Given the description of an element on the screen output the (x, y) to click on. 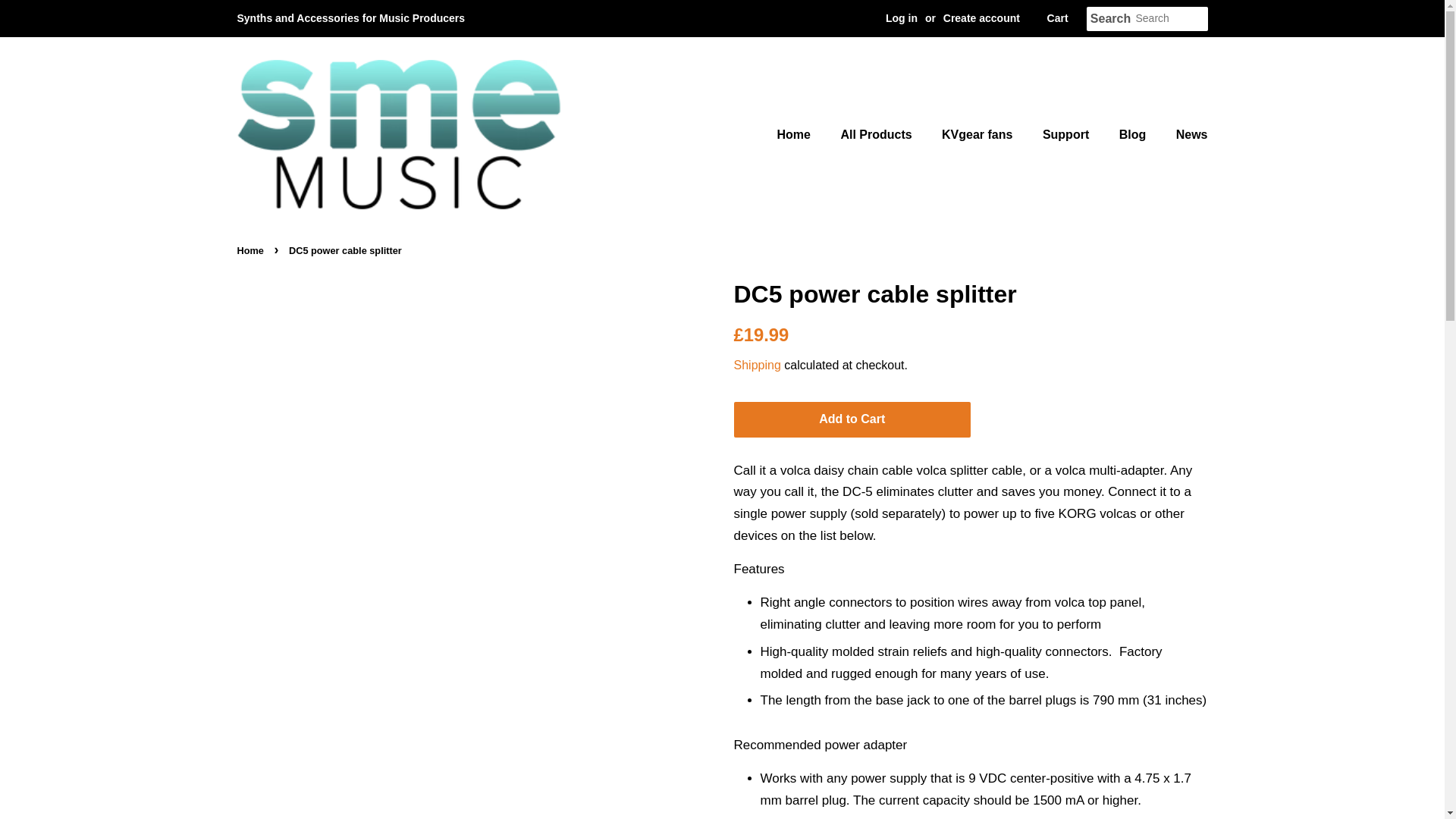
Log in (901, 18)
Home (250, 250)
Create account (981, 18)
Search (1110, 18)
KVgear fans (978, 133)
Cart (1057, 18)
Support (1066, 133)
Blog (1134, 133)
Home (800, 133)
News (1186, 133)
